Given the description of an element on the screen output the (x, y) to click on. 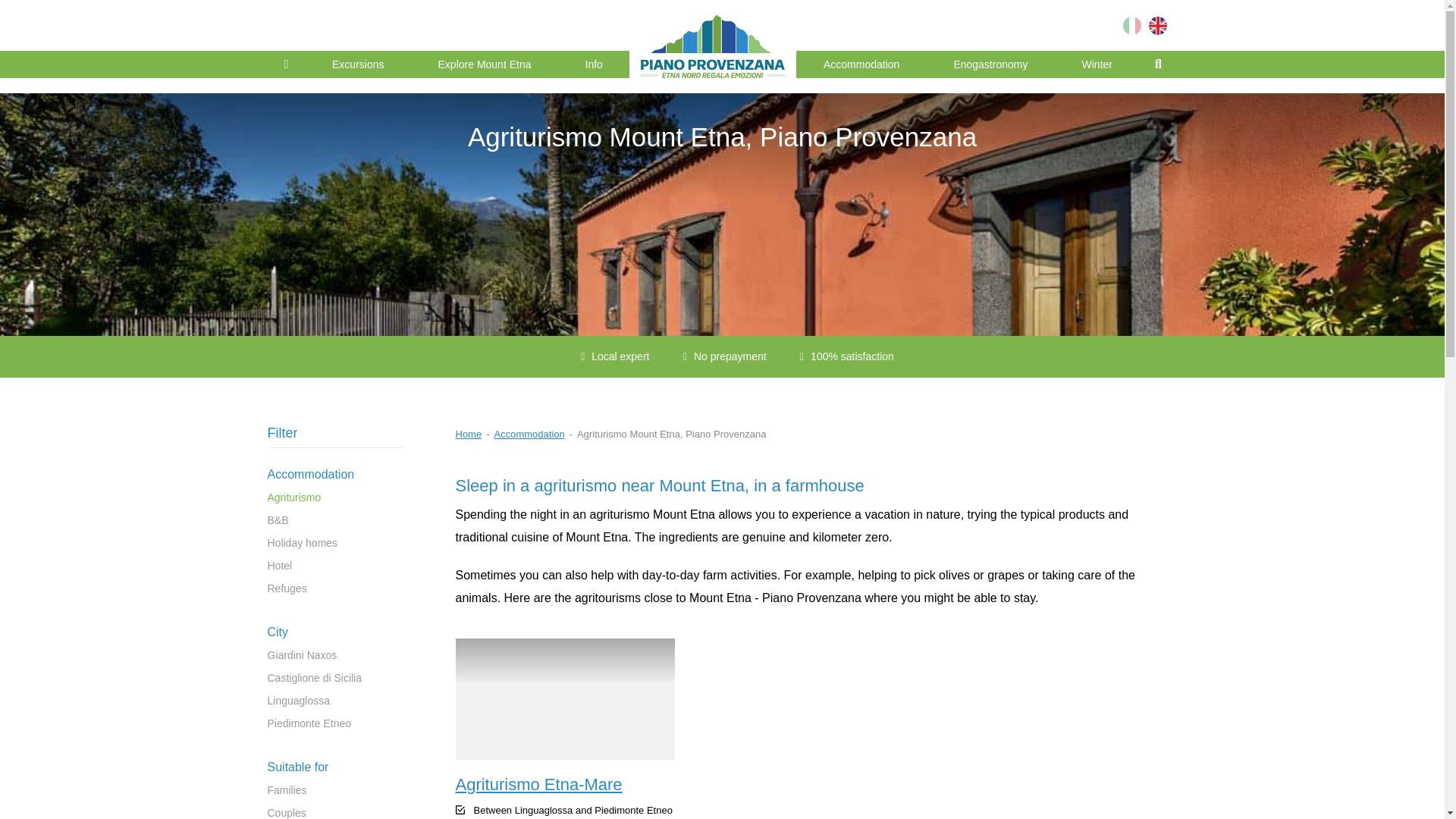
Refuges (285, 588)
Pianoprovenzana.it (1135, 25)
Pianoprovenzana.com (1160, 25)
Enogastronomy (990, 63)
Piedimonte Etneo (308, 723)
Couples (285, 812)
Winter (1097, 63)
Giardini Naxos (301, 654)
Accommodation (861, 63)
Linguaglossa (298, 700)
Agriturismo (293, 497)
Info (592, 63)
Holiday homes (301, 542)
Excursions (357, 63)
Castiglione di Sicilia (313, 677)
